Given the description of an element on the screen output the (x, y) to click on. 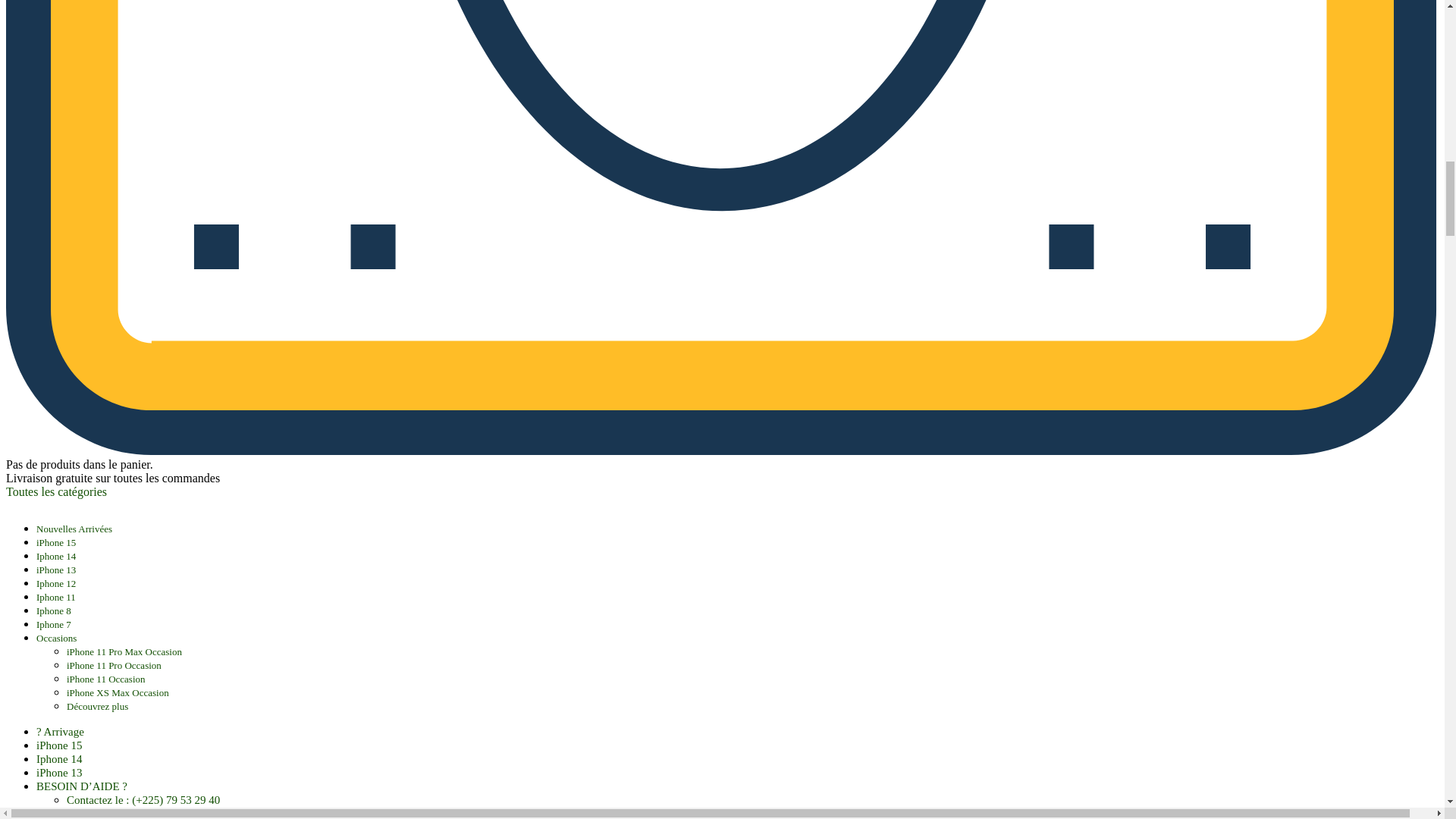
iPhone 15 (55, 542)
Iphone 14 (55, 555)
